Given the description of an element on the screen output the (x, y) to click on. 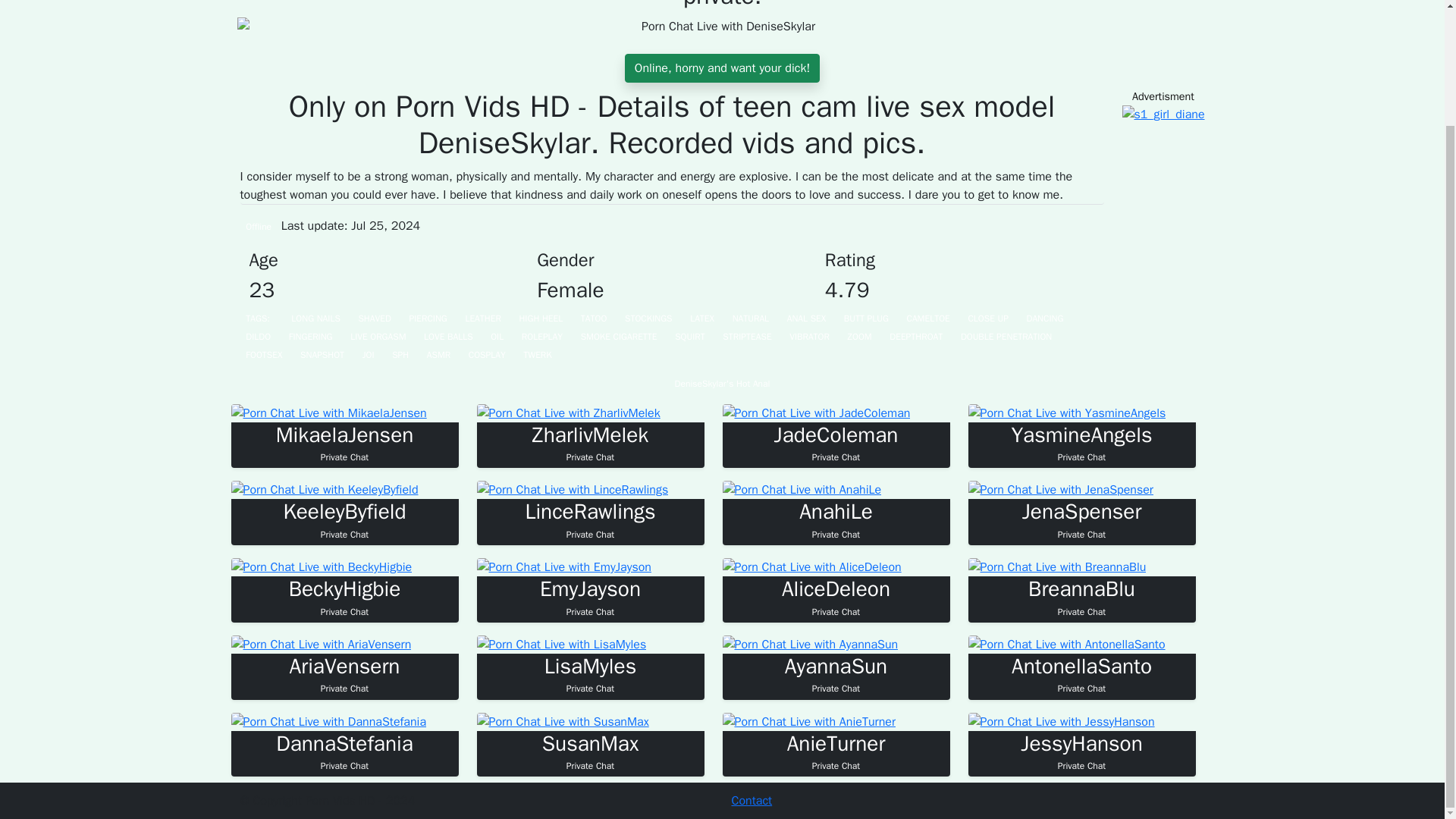
Porn Chat Live with YasmineAngels (1067, 412)
Porn Chat Live with JadeColeman (816, 412)
Porn Chat Live with MikaelaJensen (1081, 519)
Porn Chat Live with ZharlivMelek (344, 443)
Online, horny and want your dick! (835, 597)
Online, horny and want your dick! (835, 519)
Porn Chat Live with MikaelaJensen (1081, 597)
